Given the description of an element on the screen output the (x, y) to click on. 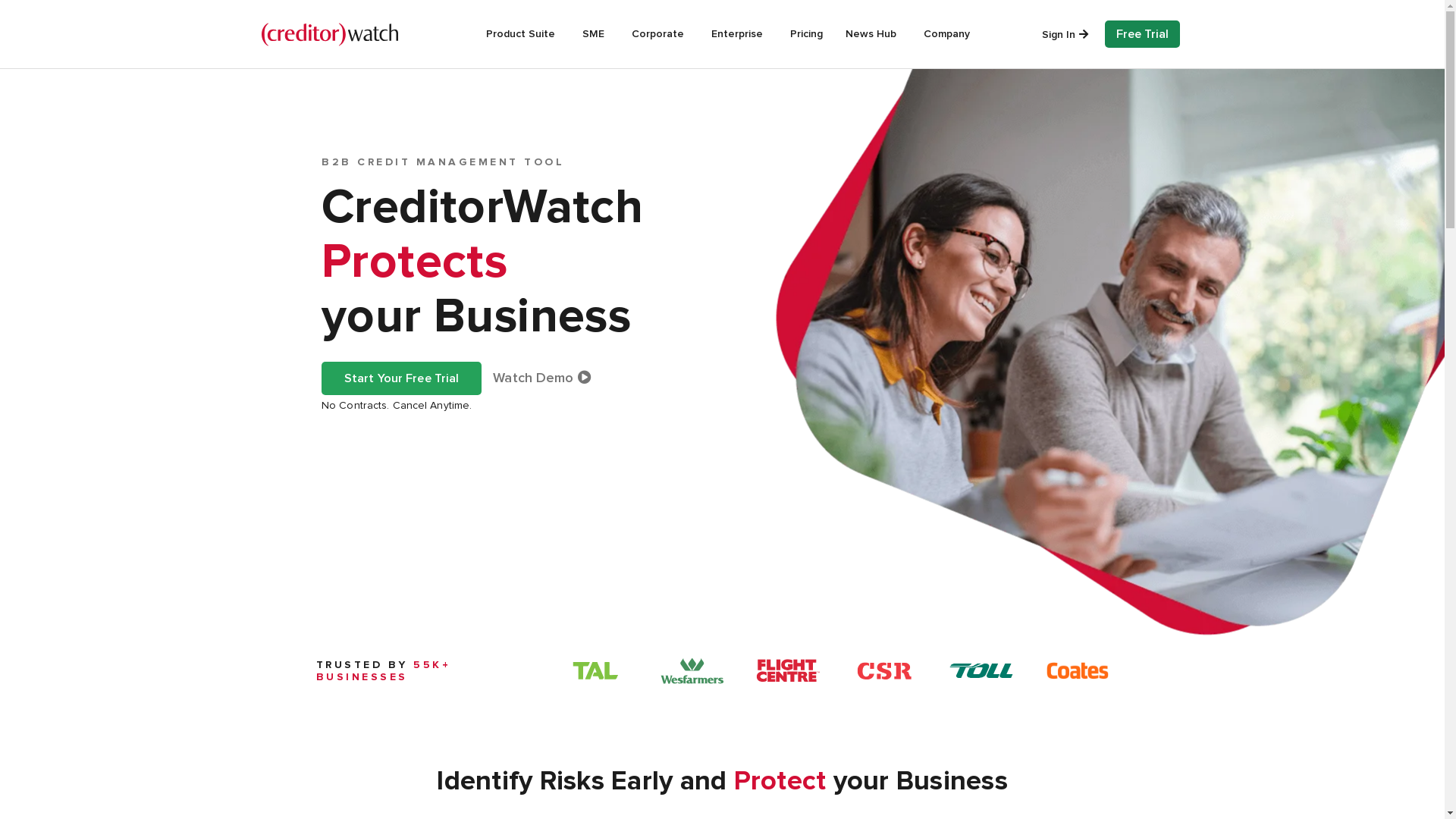
News Hub Element type: text (873, 33)
Start Your Free Trial Element type: text (401, 378)
Pricing Element type: text (806, 33)
Watch Demo Element type: text (541, 378)
Enterprise Element type: text (738, 33)
SME Element type: text (595, 33)
Company Element type: text (948, 33)
Corporate Element type: text (659, 33)
Free Trial Element type: text (1141, 33)
Product Suite Element type: text (522, 33)
Sign In Element type: text (1064, 34)
